Given the description of an element on the screen output the (x, y) to click on. 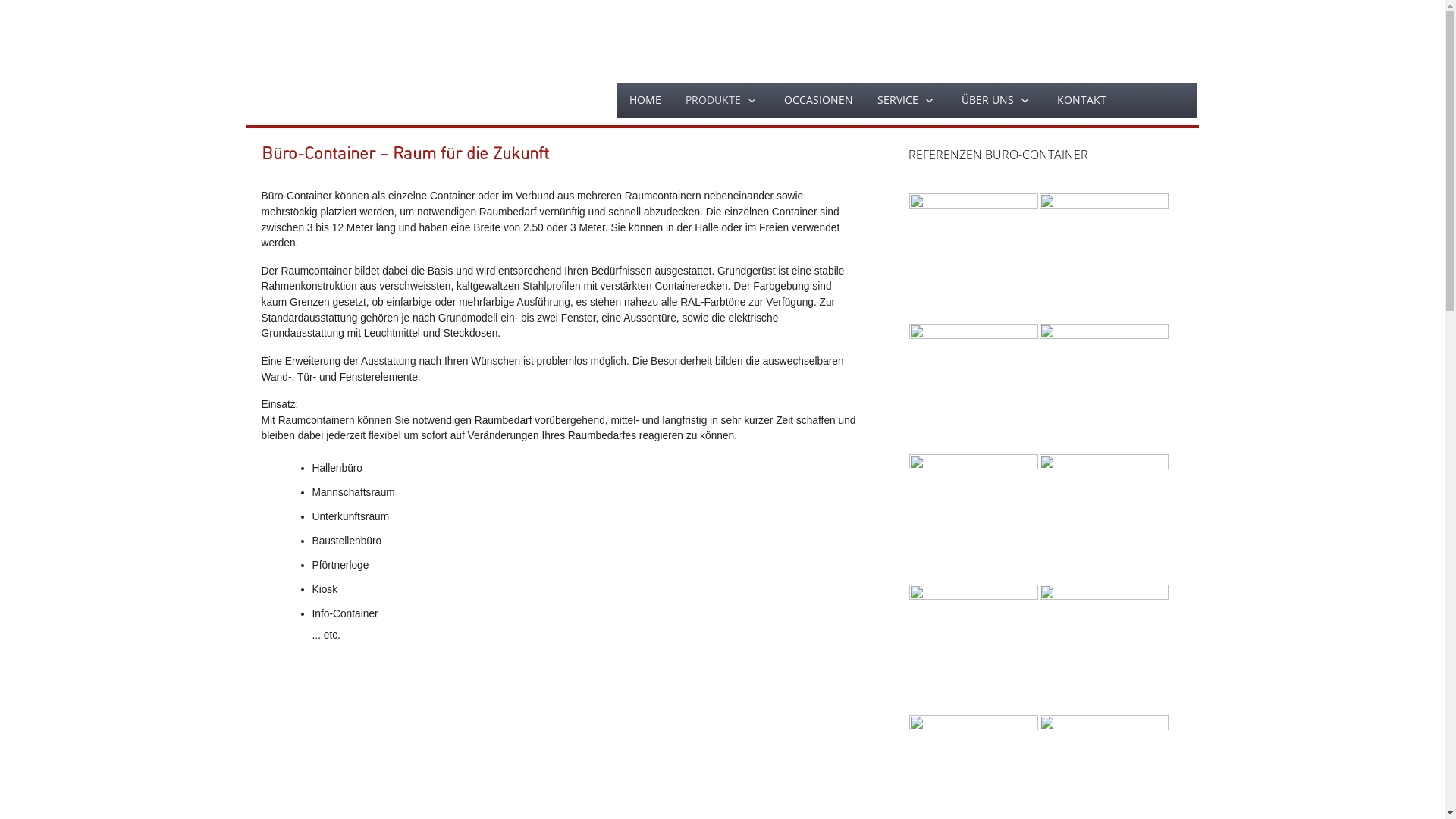
HOME Element type: text (645, 99)
SERVICE Element type: text (906, 100)
 (4/13) Element type: hover (1103, 387)
 (1/13) Element type: hover (973, 257)
Suchen Element type: hover (1156, 100)
OCCASIONEN Element type: text (818, 99)
 (3/13) Element type: hover (973, 387)
 (8/13) Element type: hover (1103, 648)
KONTAKT Element type: text (1081, 99)
PRODUKTE Element type: text (722, 100)
 (5/13) Element type: hover (973, 518)
 (7/13) Element type: hover (973, 648)
 (2/13) Element type: hover (1103, 257)
 (6/13) Element type: hover (1103, 518)
